Given the description of an element on the screen output the (x, y) to click on. 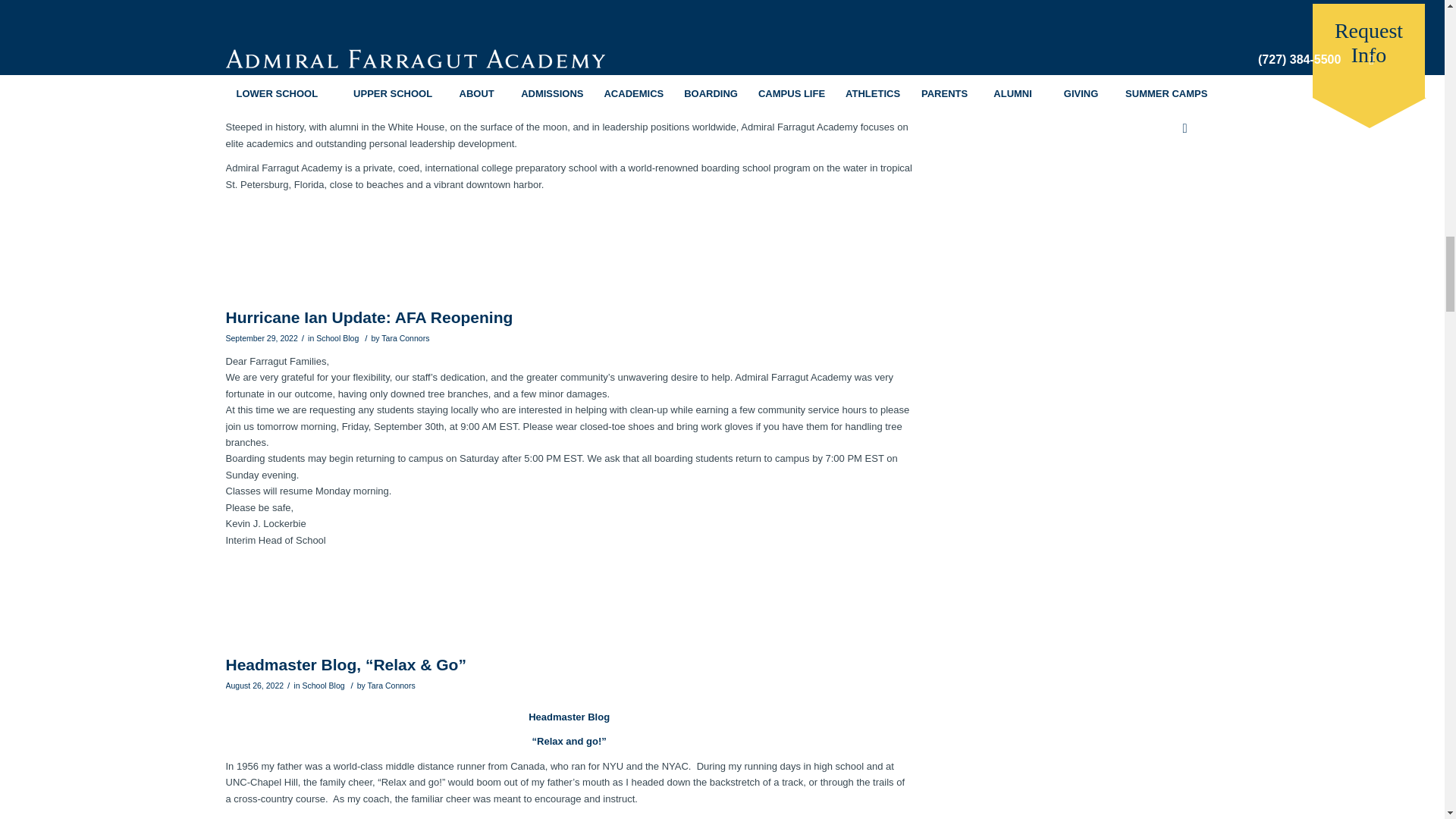
Posts by Tara Connors (405, 338)
Posts by Tara Connors (391, 685)
Permanent Link: Hurricane Ian Update: AFA Reopening (369, 316)
